Given the description of an element on the screen output the (x, y) to click on. 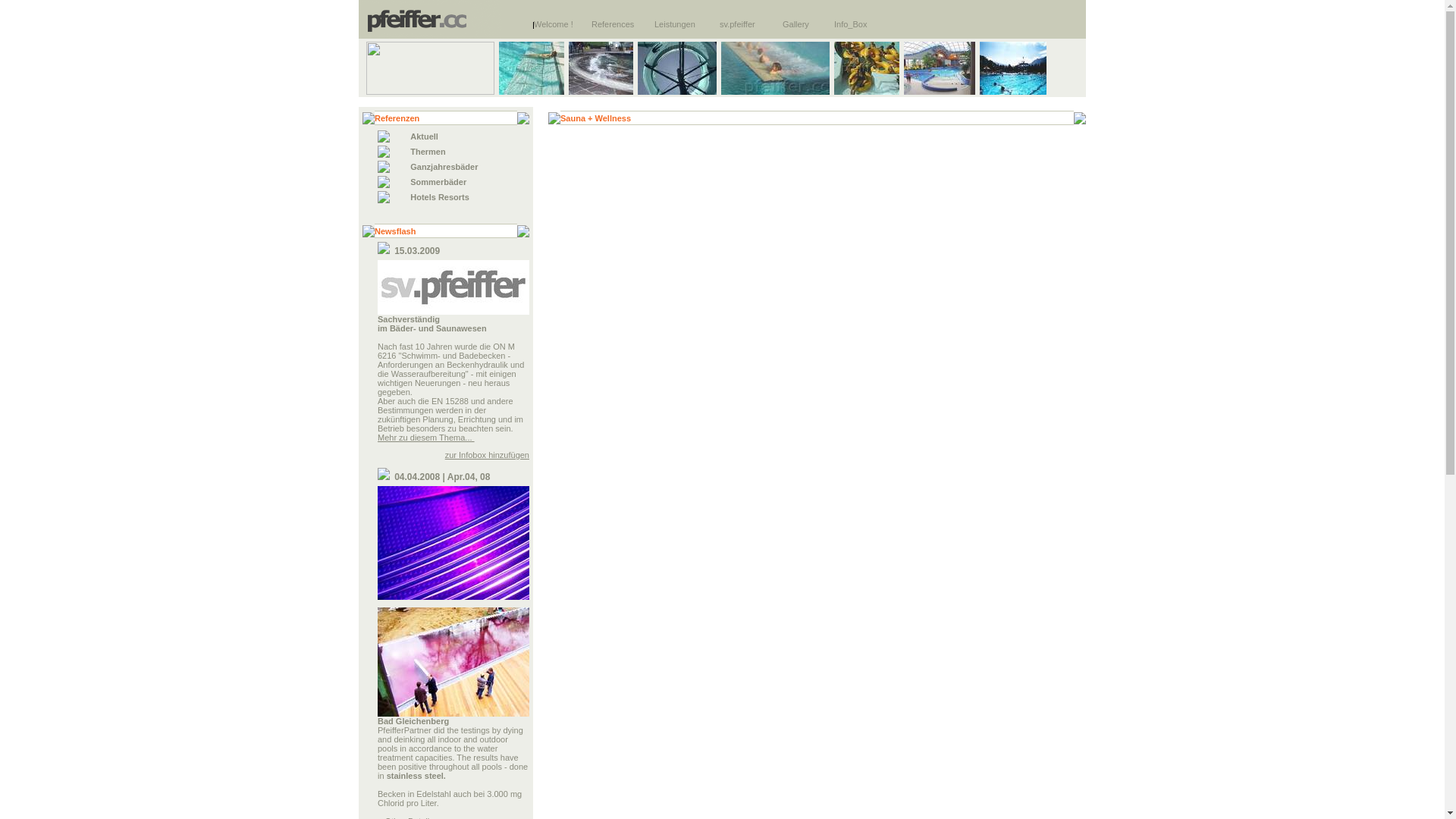
Aktuell Element type: text (424, 136)
Hotels Resorts Element type: text (439, 196)
Thermen Element type: text (427, 151)
Mehr zu diesem Thema...  Element type: text (425, 437)
